Given the description of an element on the screen output the (x, y) to click on. 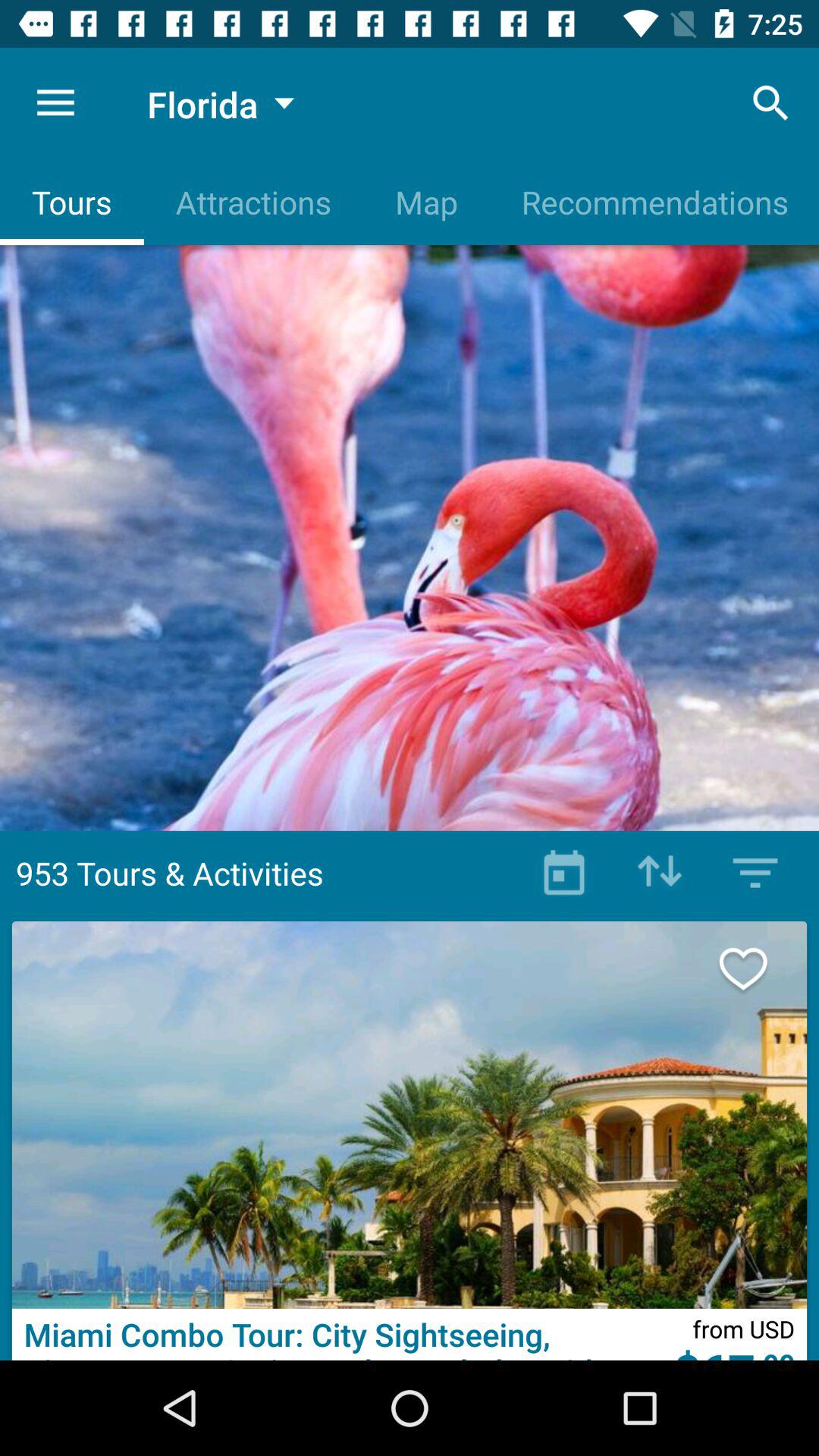
book (564, 872)
